Given the description of an element on the screen output the (x, y) to click on. 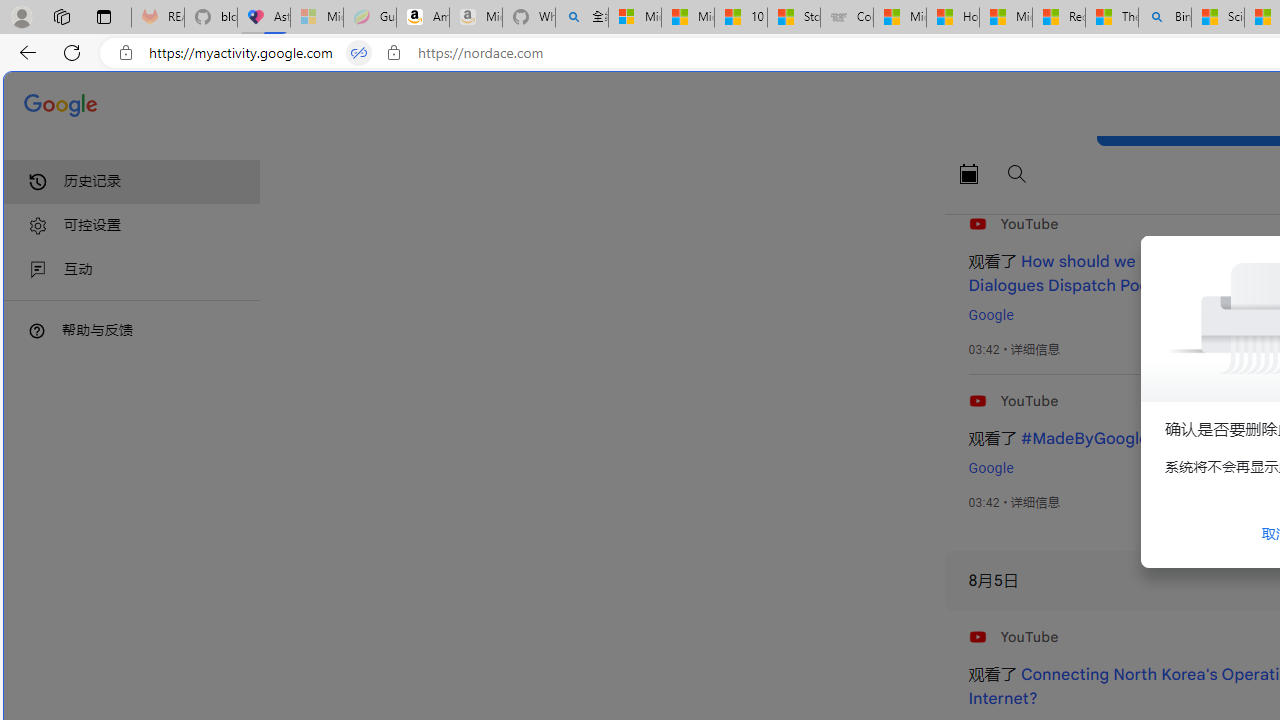
Science - MSN (1217, 17)
Google (990, 468)
Stocks - MSN (794, 17)
